Given the description of an element on the screen output the (x, y) to click on. 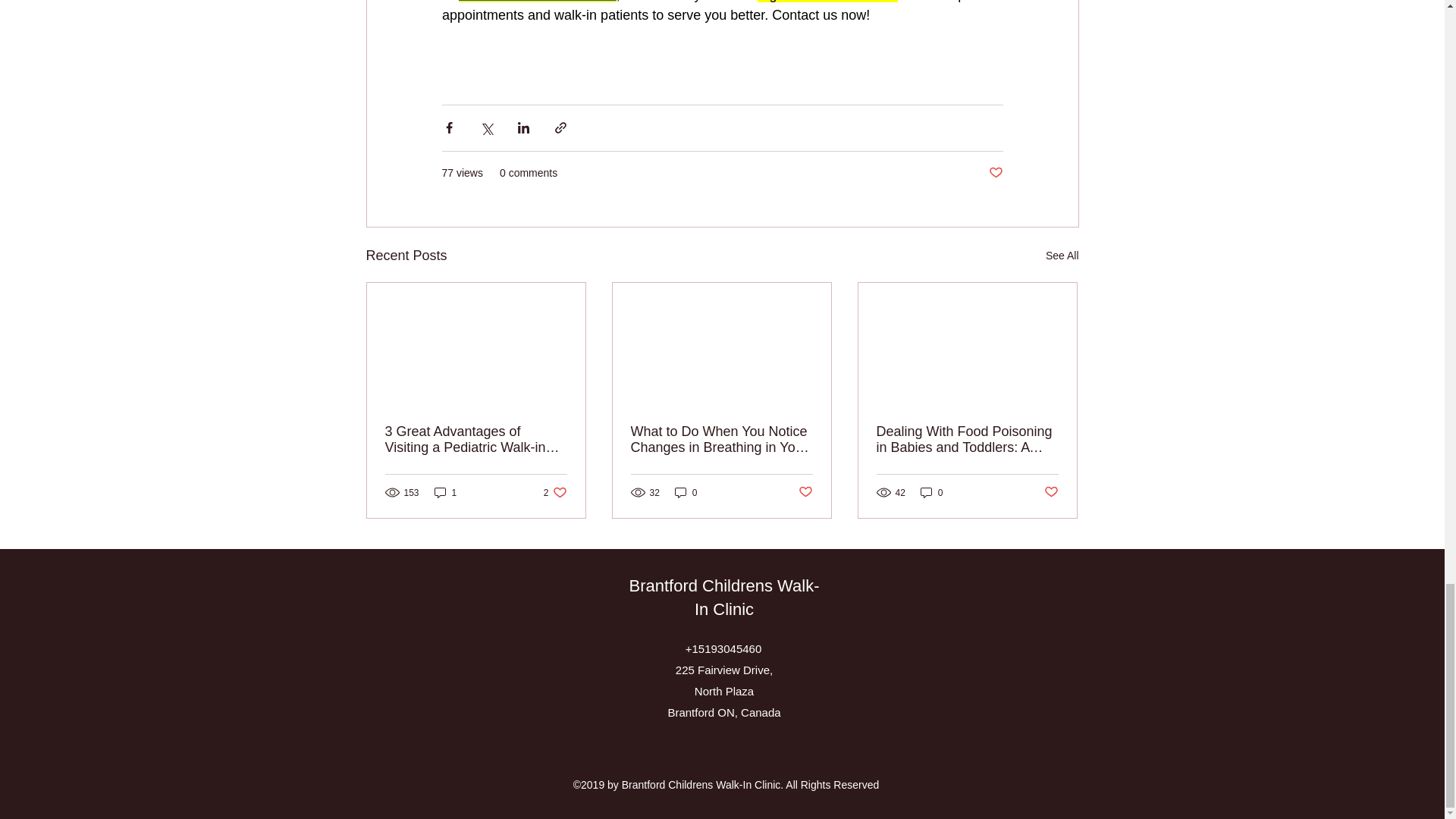
See All (1061, 255)
0 (685, 492)
Brantford Childrens Walk-In Clinic (723, 597)
0 (931, 492)
Post not marked as liked (804, 492)
Post not marked as liked (995, 172)
1 (445, 492)
Dealing With Food Poisoning in Babies and Toddlers: A Guide (967, 439)
Post not marked as liked (555, 492)
3 Great Advantages of Visiting a Pediatric Walk-in Clinic (1050, 492)
